Given the description of an element on the screen output the (x, y) to click on. 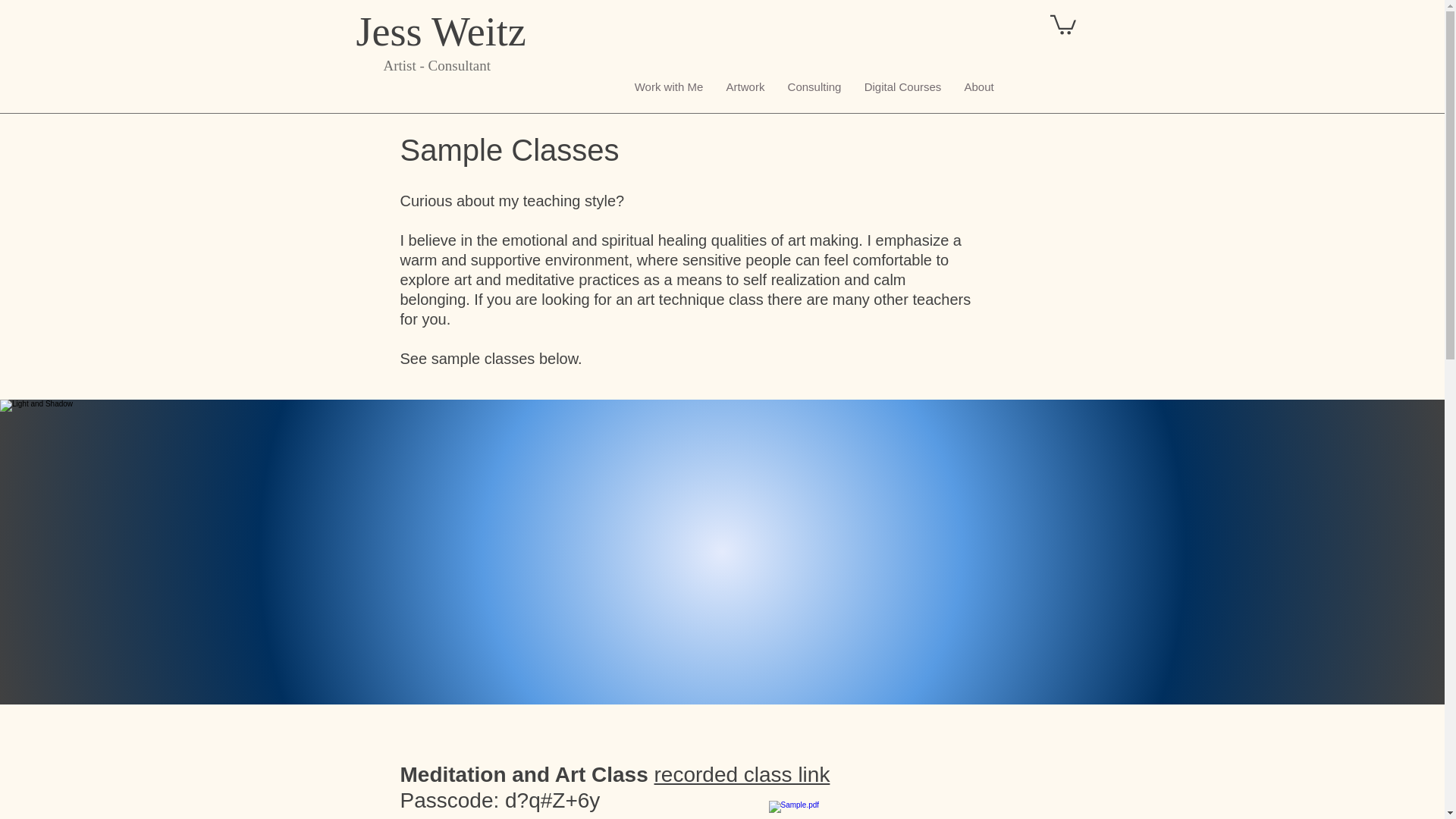
Sample.pdf (798, 809)
recorded class link (741, 774)
Digital Courses (901, 86)
About (978, 86)
Jess Weitz (440, 31)
Work with Me (668, 86)
Artwork (745, 86)
Consulting (814, 86)
